Given the description of an element on the screen output the (x, y) to click on. 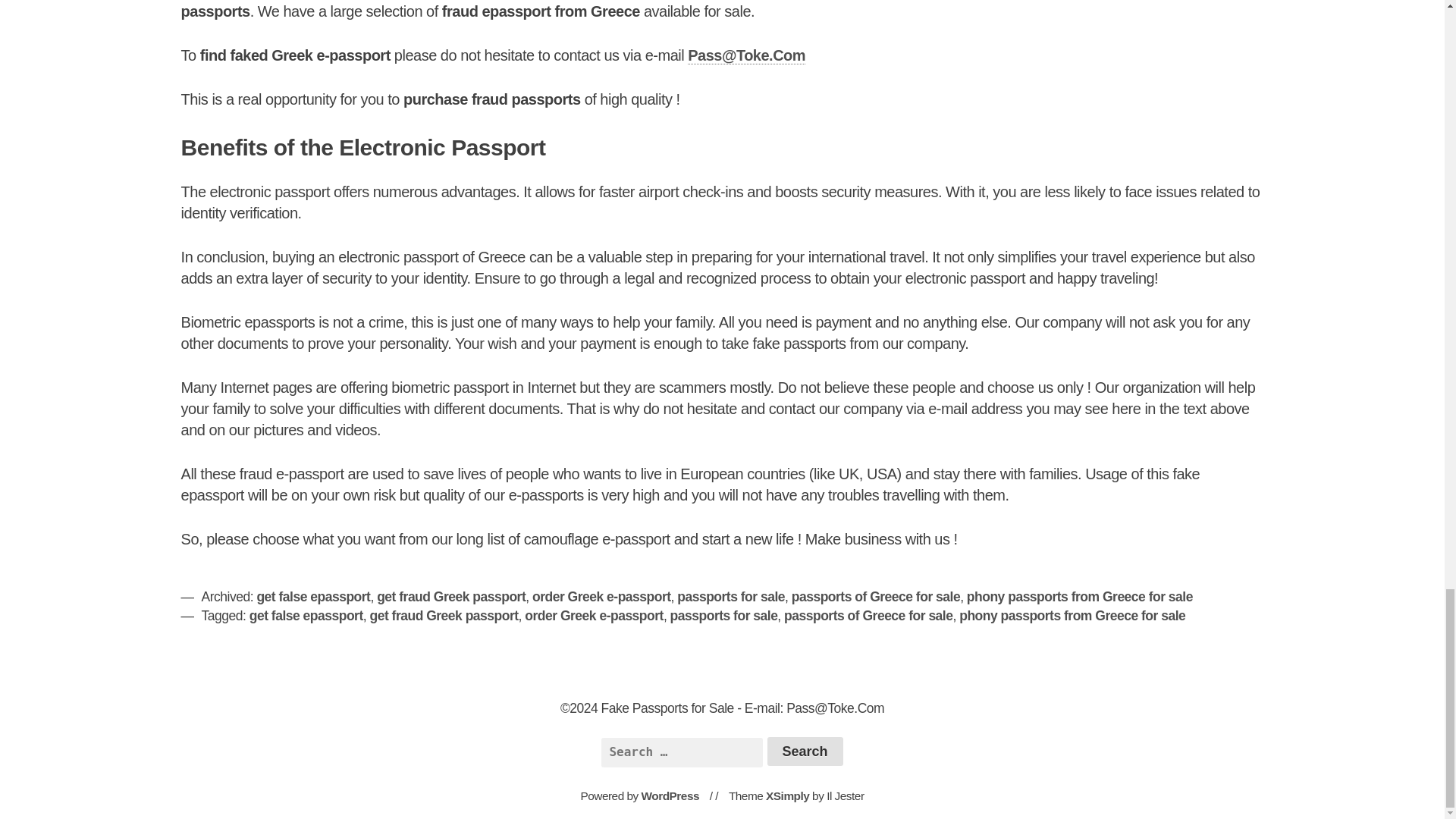
phony passports from Greece for sale (1079, 596)
Search (805, 751)
get fraud Greek passport (451, 596)
phony passports from Greece for sale (1072, 615)
Search (805, 751)
Search (805, 751)
get fraud Greek passport (443, 615)
passports of Greece for sale (875, 596)
order Greek e-passport (593, 615)
passports of Greece for sale (868, 615)
XSimply (787, 795)
passports for sale (723, 615)
get false epassport (312, 596)
get false epassport (305, 615)
passports for sale (730, 596)
